Given the description of an element on the screen output the (x, y) to click on. 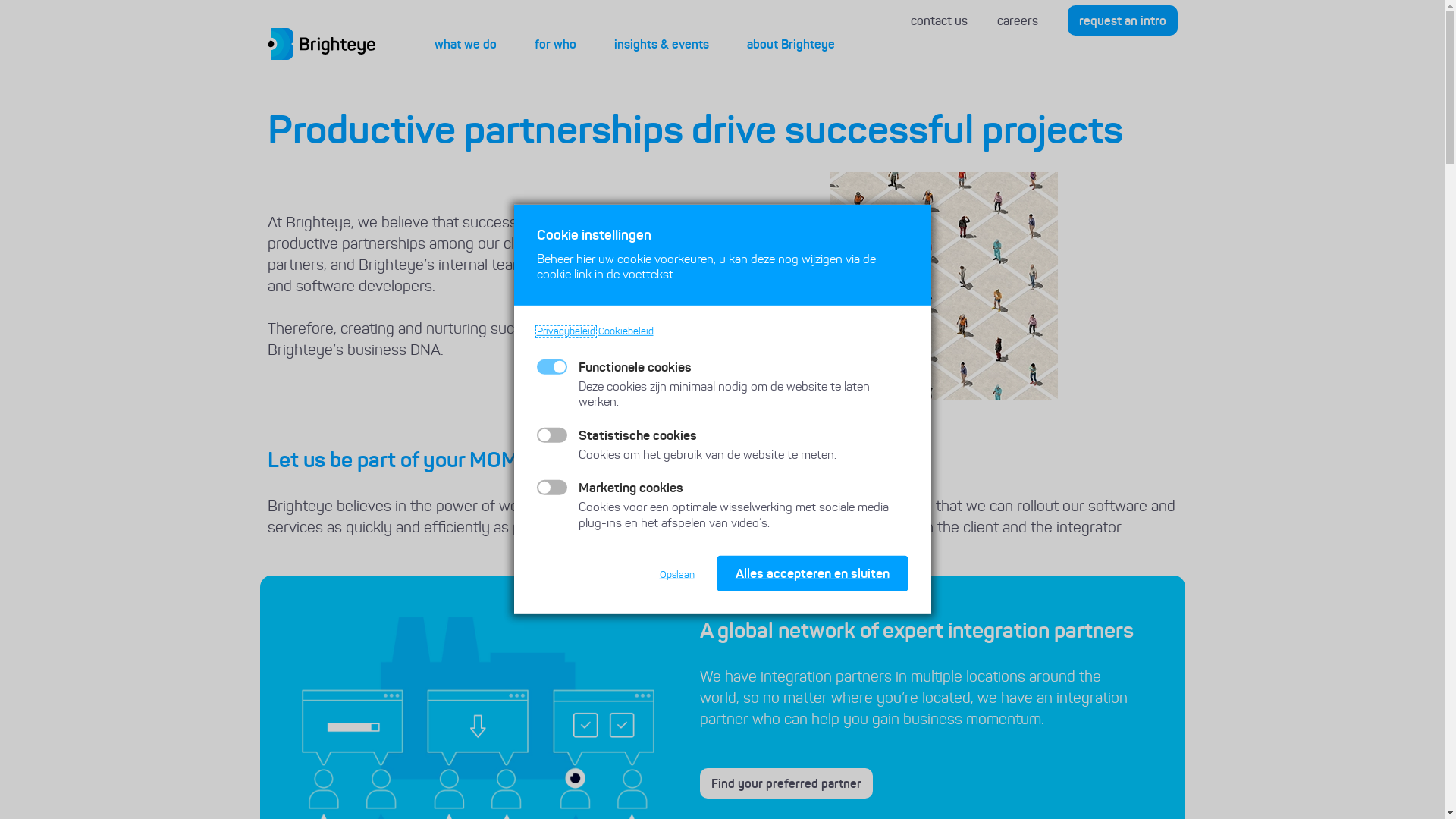
Alles accepteren en sluiten Element type: text (811, 573)
contact us Element type: text (938, 20)
what we do Element type: text (464, 43)
Find your preferred partner Element type: text (785, 783)
request an intro Element type: text (1122, 20)
about Brighteye Element type: text (790, 43)
careers Element type: text (1016, 20)
Privacybeleid Element type: text (565, 331)
Overslaan en naar de inhoud gaan Element type: text (0, 0)
Opslaan Element type: text (676, 574)
Cookiebeleid Element type: text (624, 331)
